Given the description of an element on the screen output the (x, y) to click on. 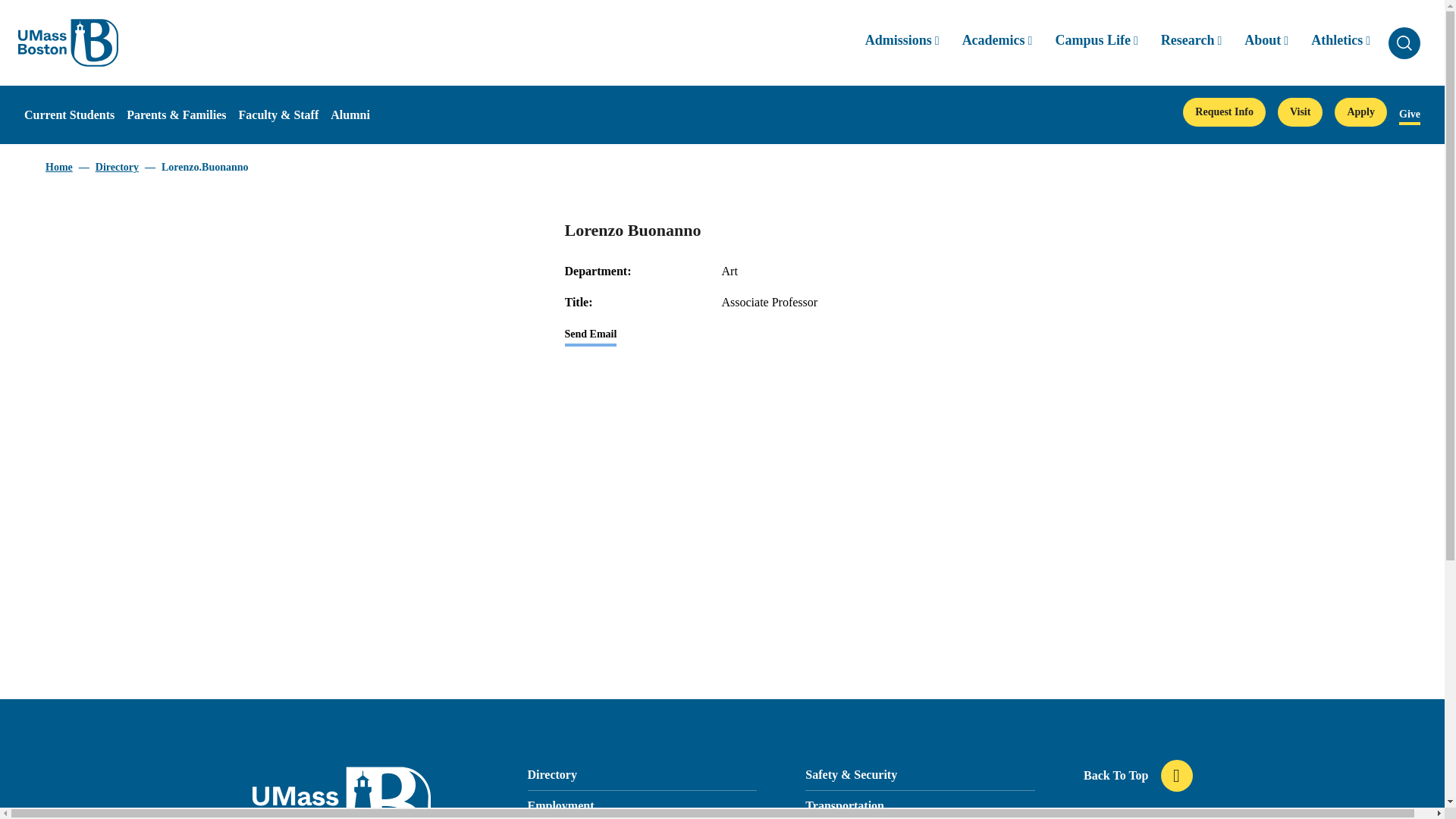
Campus Life (1095, 41)
Admissions (901, 41)
Academics (997, 41)
UMass (67, 42)
